Given the description of an element on the screen output the (x, y) to click on. 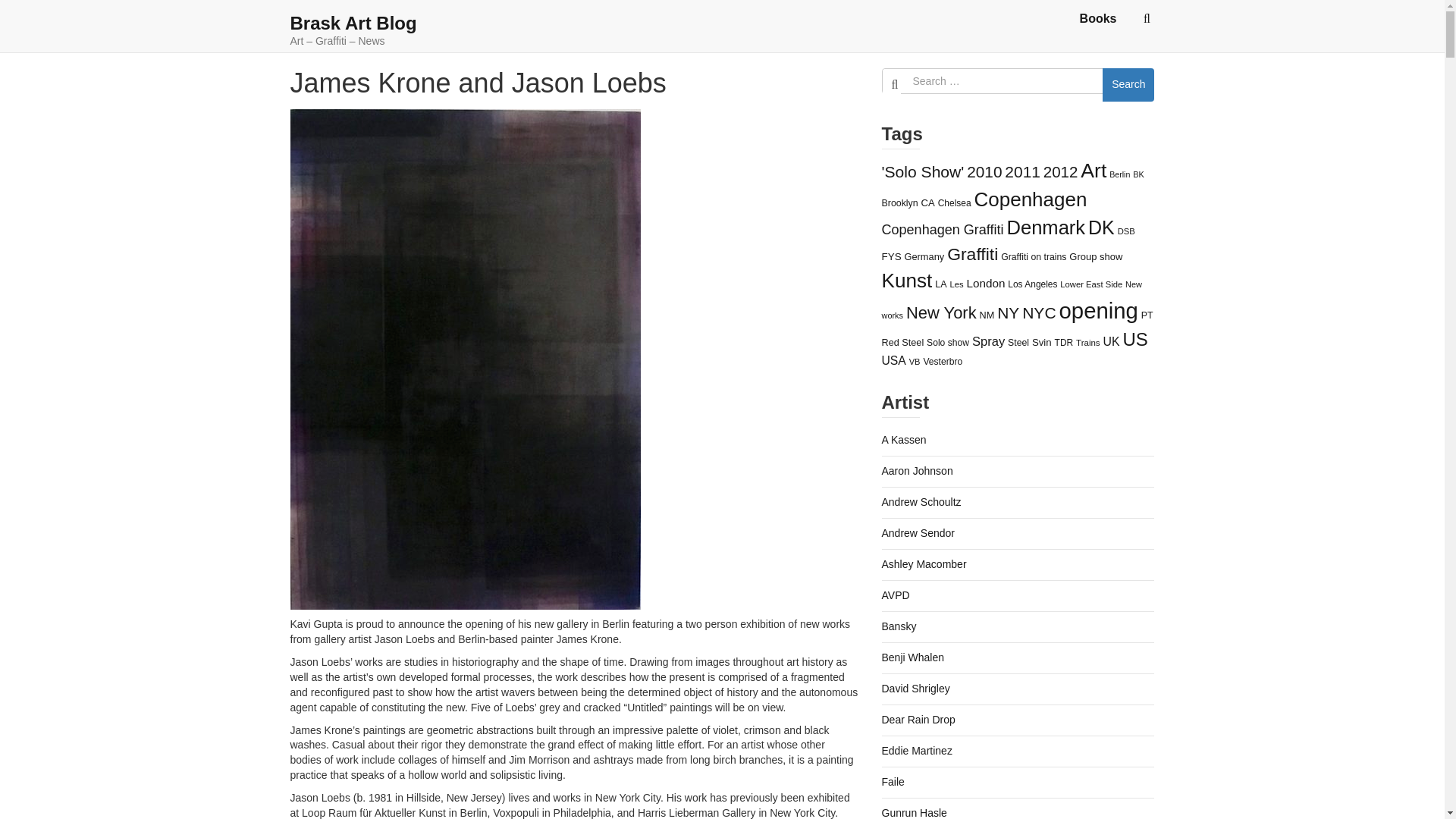
Brask Art Blog (352, 23)
Books (1098, 18)
Art (1093, 169)
Les (955, 284)
Graffiti (972, 253)
Kunst (905, 280)
Copenhagen Graffiti (941, 229)
Brooklyn (898, 203)
'Solo Show' (921, 171)
2012 (1060, 171)
